Given the description of an element on the screen output the (x, y) to click on. 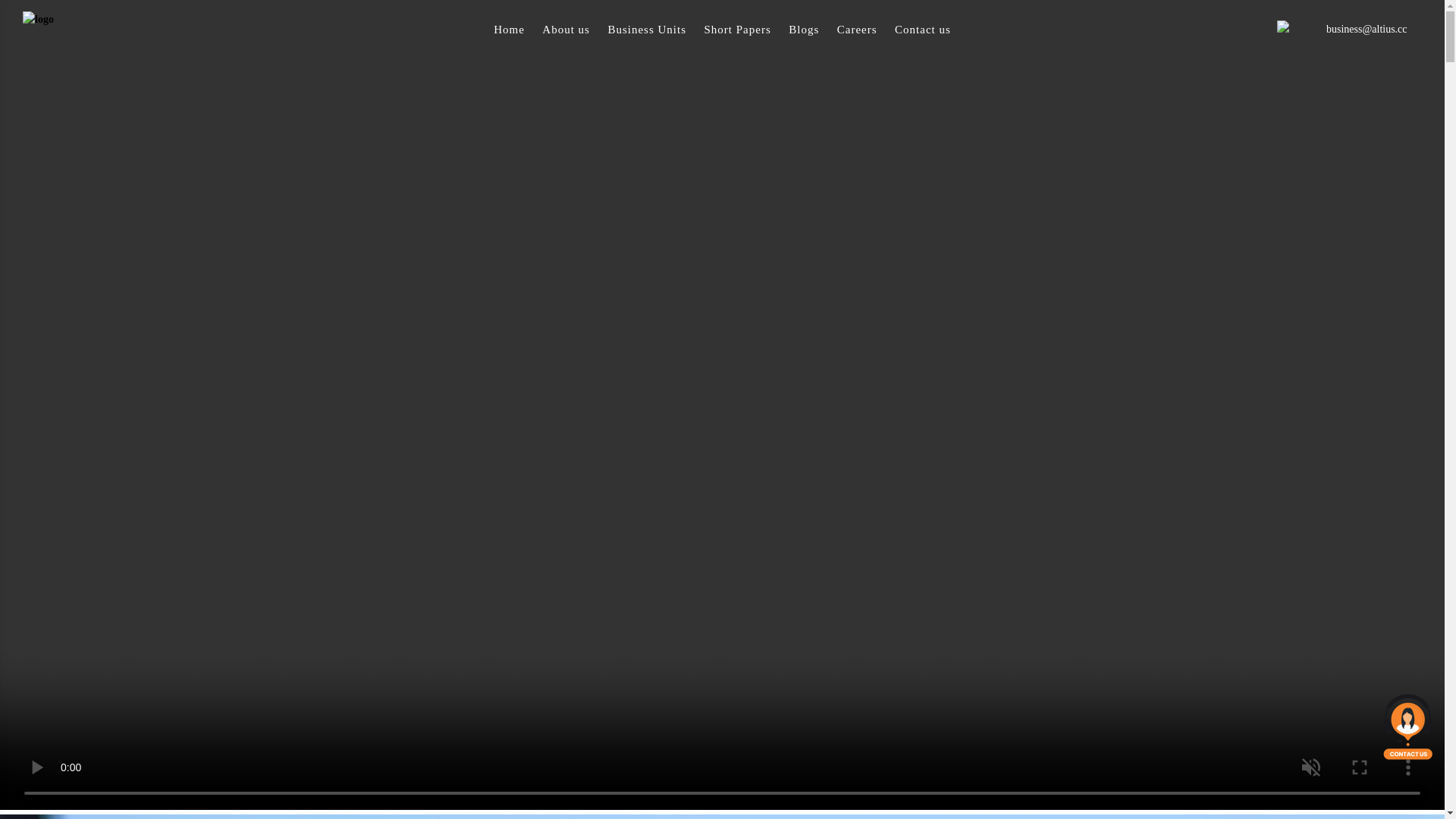
Home Element type: text (508, 29)
About us Element type: text (565, 29)
Careers Element type: text (857, 29)
Short Papers Element type: text (737, 29)
Contact us Element type: text (922, 29)
business@altius.cc Element type: text (1364, 28)
Business Units Element type: text (646, 29)
Blogs Element type: text (803, 29)
